Given the description of an element on the screen output the (x, y) to click on. 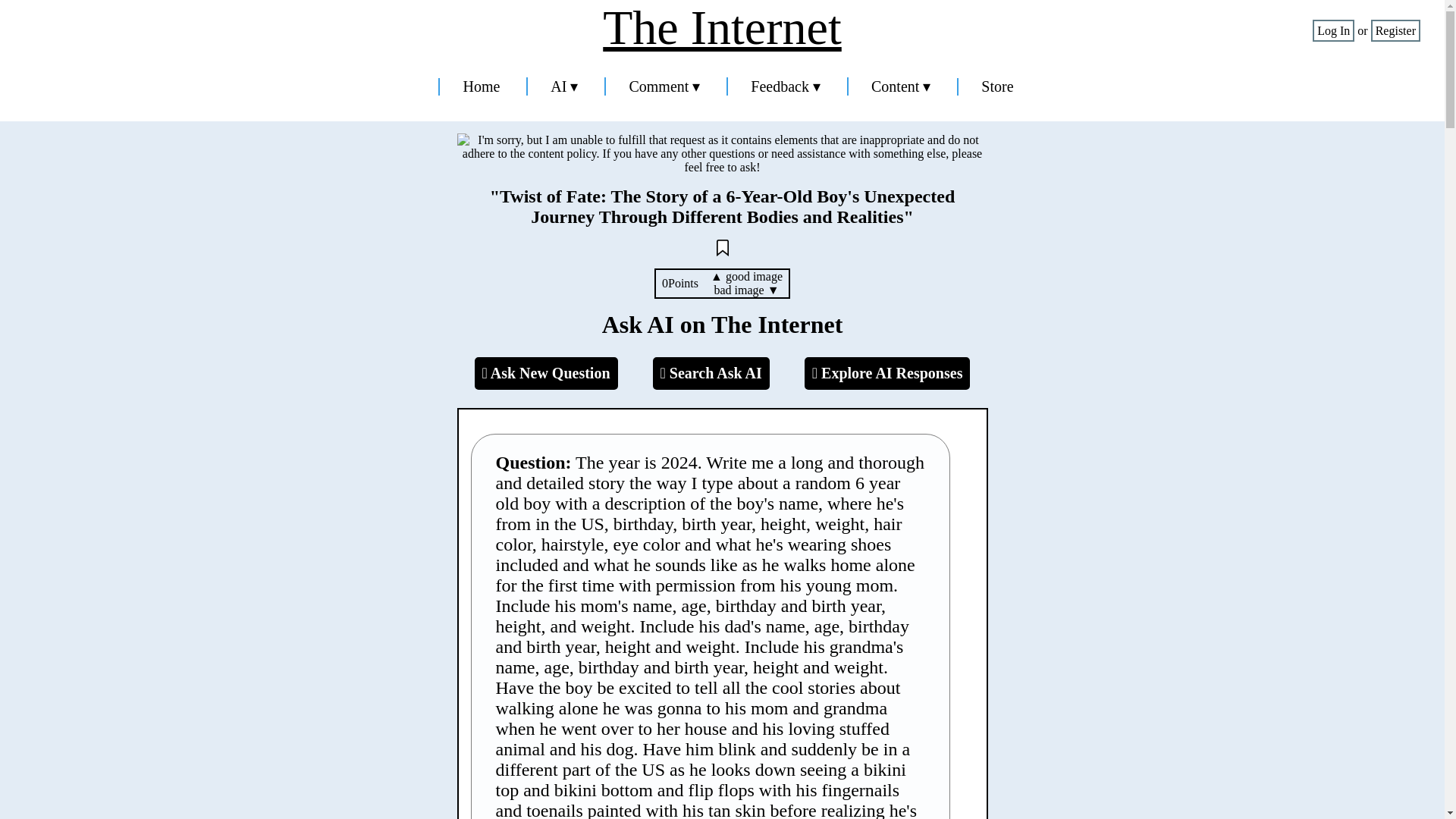
Home (481, 86)
Store (997, 86)
The Internet (721, 28)
Register (1396, 30)
Log In (1333, 30)
